Given the description of an element on the screen output the (x, y) to click on. 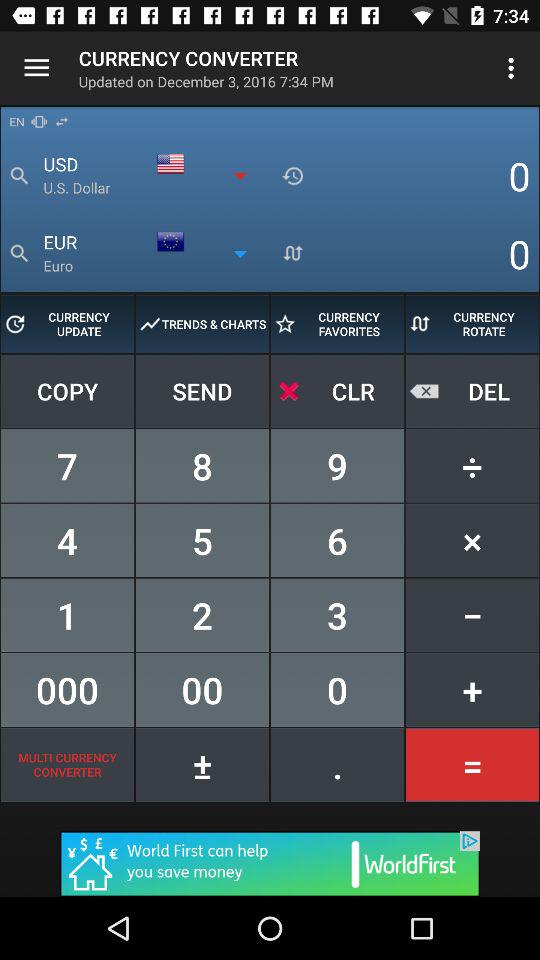
click on 0 (337, 689)
select the field euro (157, 253)
click on 5 (202, 540)
click on the number nine (337, 466)
select number 1 in the keypad (67, 614)
